Given the description of an element on the screen output the (x, y) to click on. 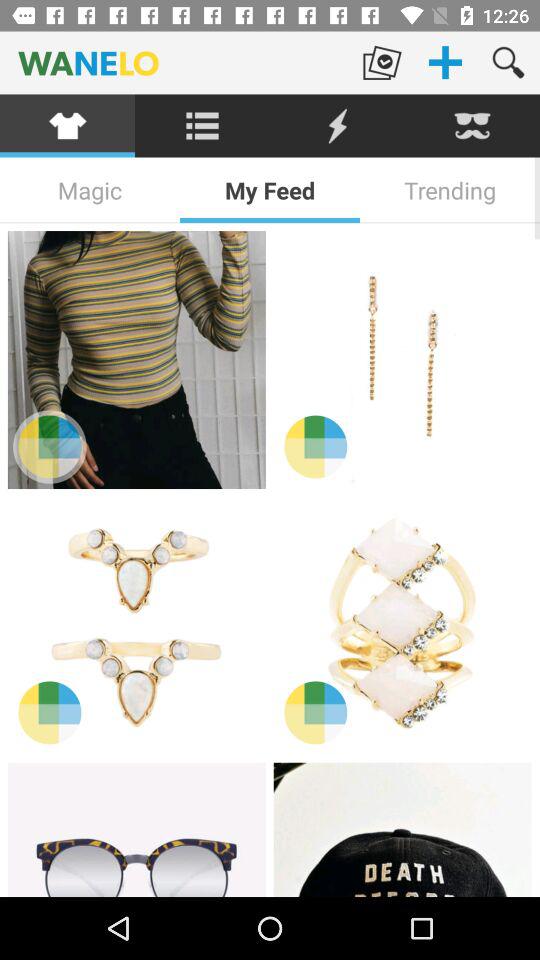
content category selection (67, 125)
